Given the description of an element on the screen output the (x, y) to click on. 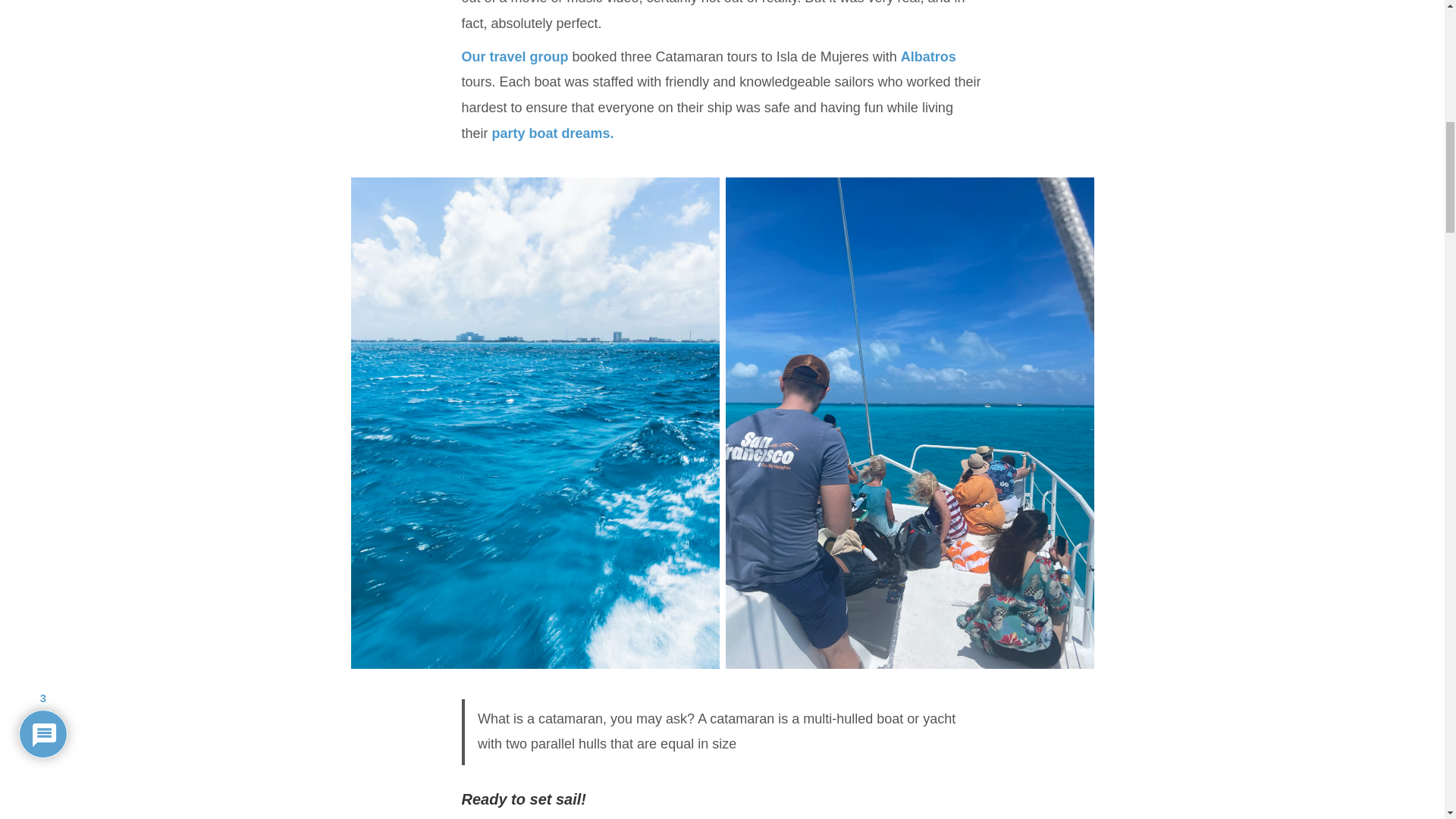
party boat dreams. (550, 133)
Our travel group (514, 56)
Albatros (928, 56)
